Given the description of an element on the screen output the (x, y) to click on. 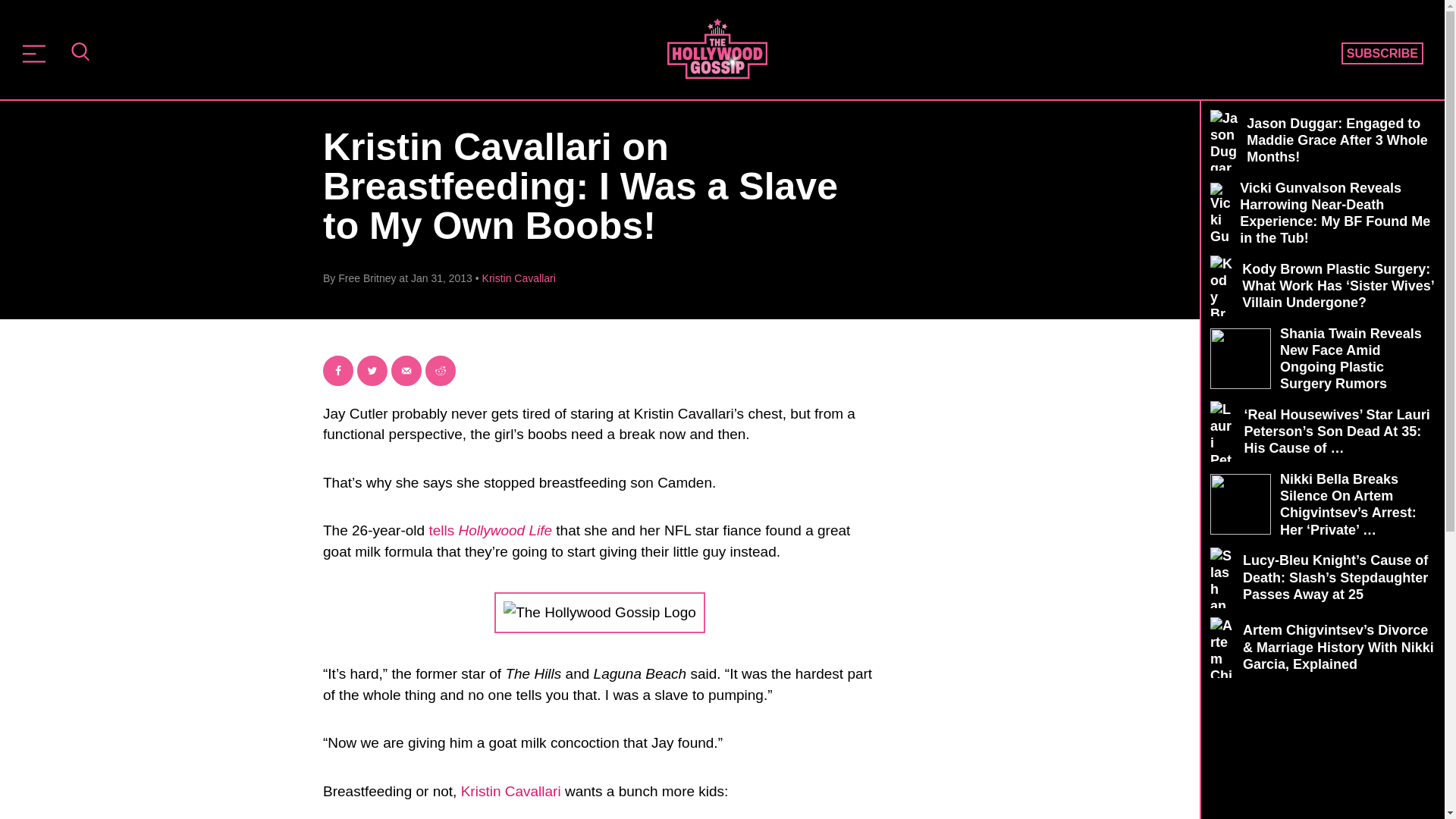
Share on Facebook (338, 370)
The Hollywood Gossip (716, 48)
Kristin Cavallari (518, 277)
Jason Duggar: Engaged to Maddie Grace After 3 Whole Months! (1322, 139)
Free Britney (366, 277)
Share on Reddit (440, 370)
SEARCH (79, 53)
Kristin Cavallari (510, 790)
Share on Twitter (371, 370)
